Given the description of an element on the screen output the (x, y) to click on. 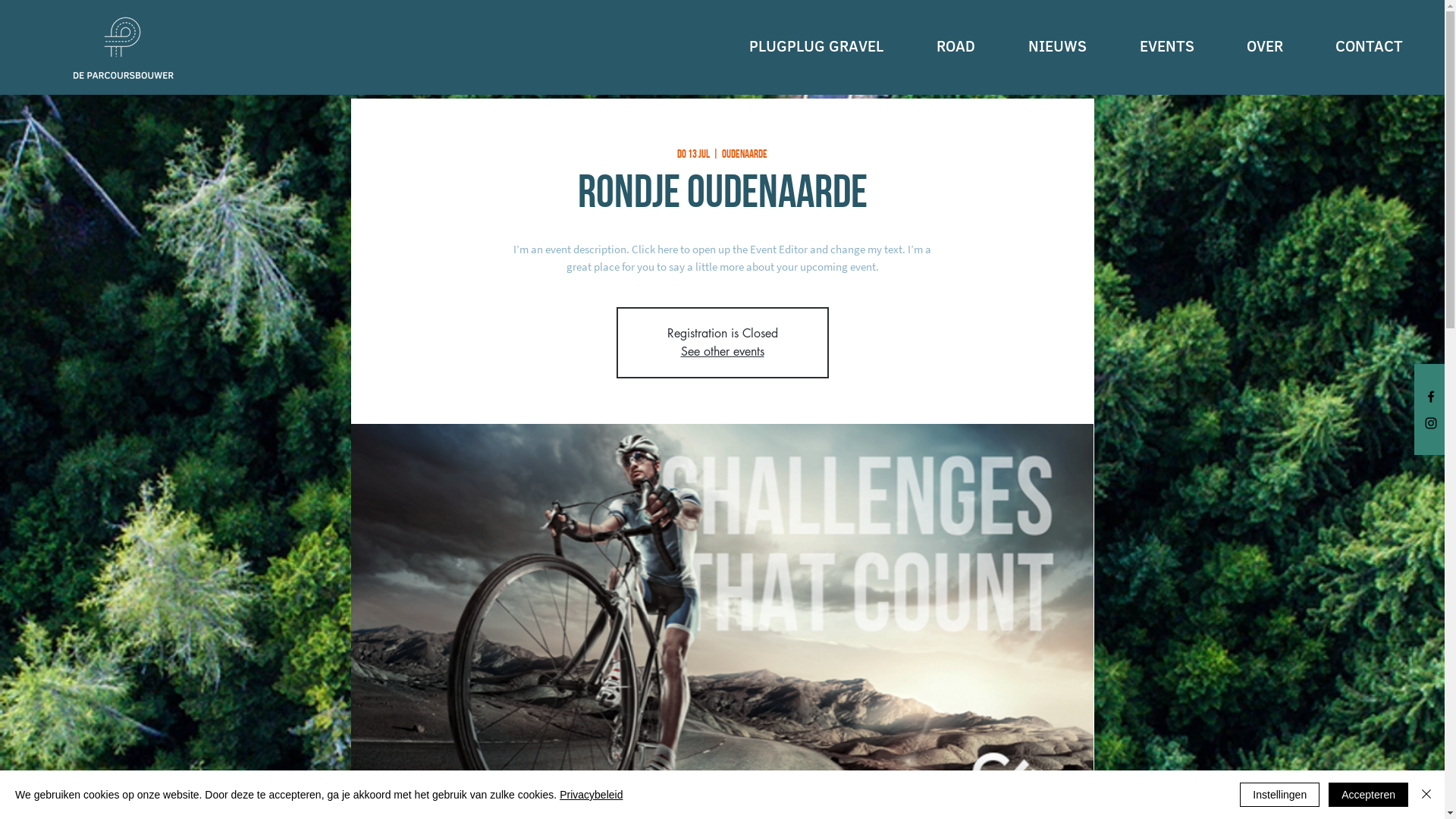
See other events Element type: text (722, 351)
PLUGPLUG GRAVEL Element type: text (800, 44)
OVER Element type: text (1249, 44)
Privacybeleid Element type: text (590, 794)
Instellingen Element type: text (1279, 794)
CONTACT Element type: text (1354, 44)
Accepteren Element type: text (1368, 794)
EVENTS Element type: text (1151, 44)
ROAD Element type: text (940, 44)
NIEUWS Element type: text (1042, 44)
